Given the description of an element on the screen output the (x, y) to click on. 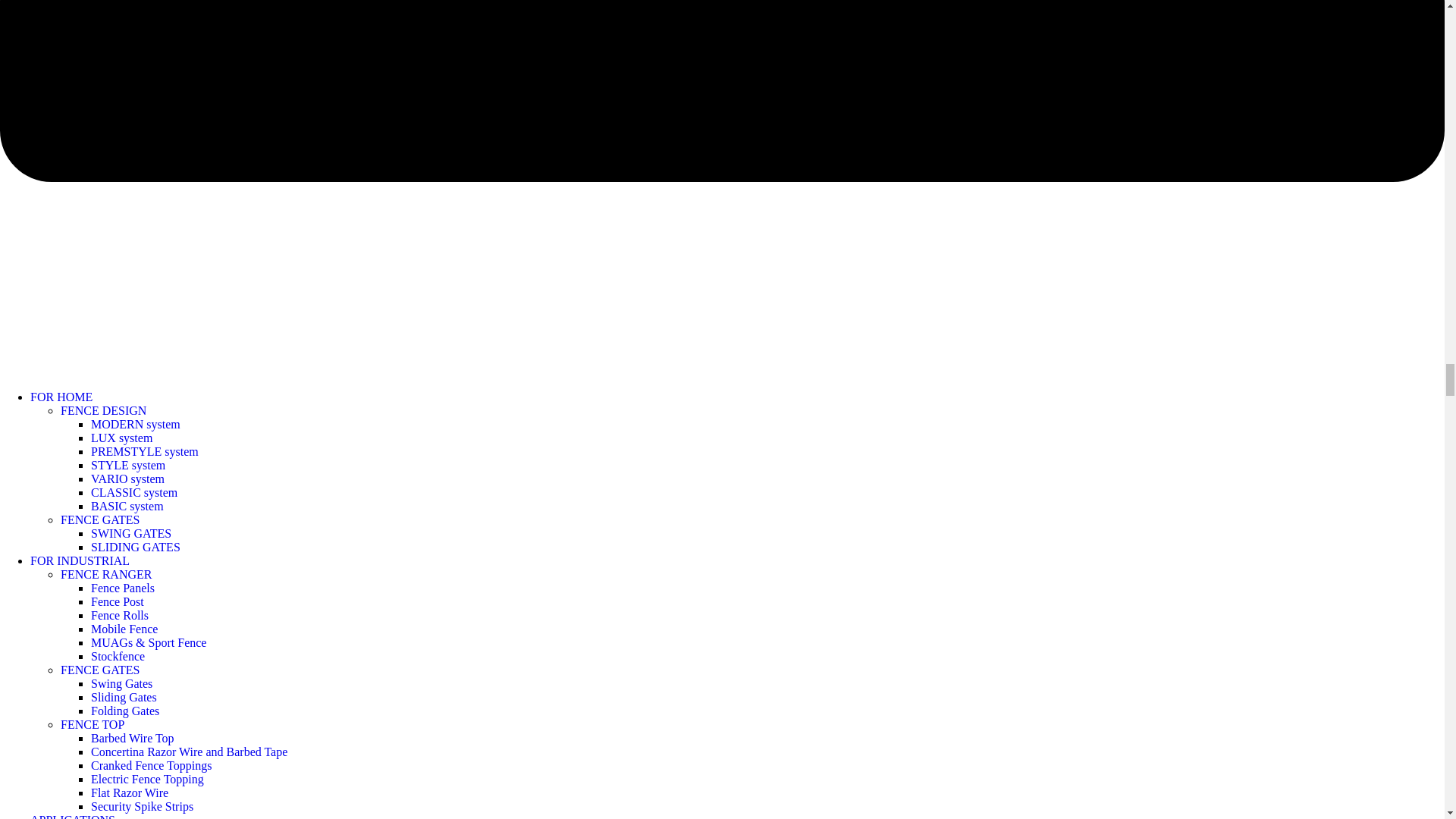
Barbed Wire Top (132, 738)
FENCE TOP (92, 724)
FOR INDUSTRIAL (79, 560)
PREMSTYLE system (144, 451)
MODERN system (135, 423)
LUX system (121, 437)
Electric Fence Topping (146, 779)
FENCE GATES (100, 669)
Concertina Razor Wire and Barbed Tape (188, 751)
FOR HOME (61, 396)
